Given the description of an element on the screen output the (x, y) to click on. 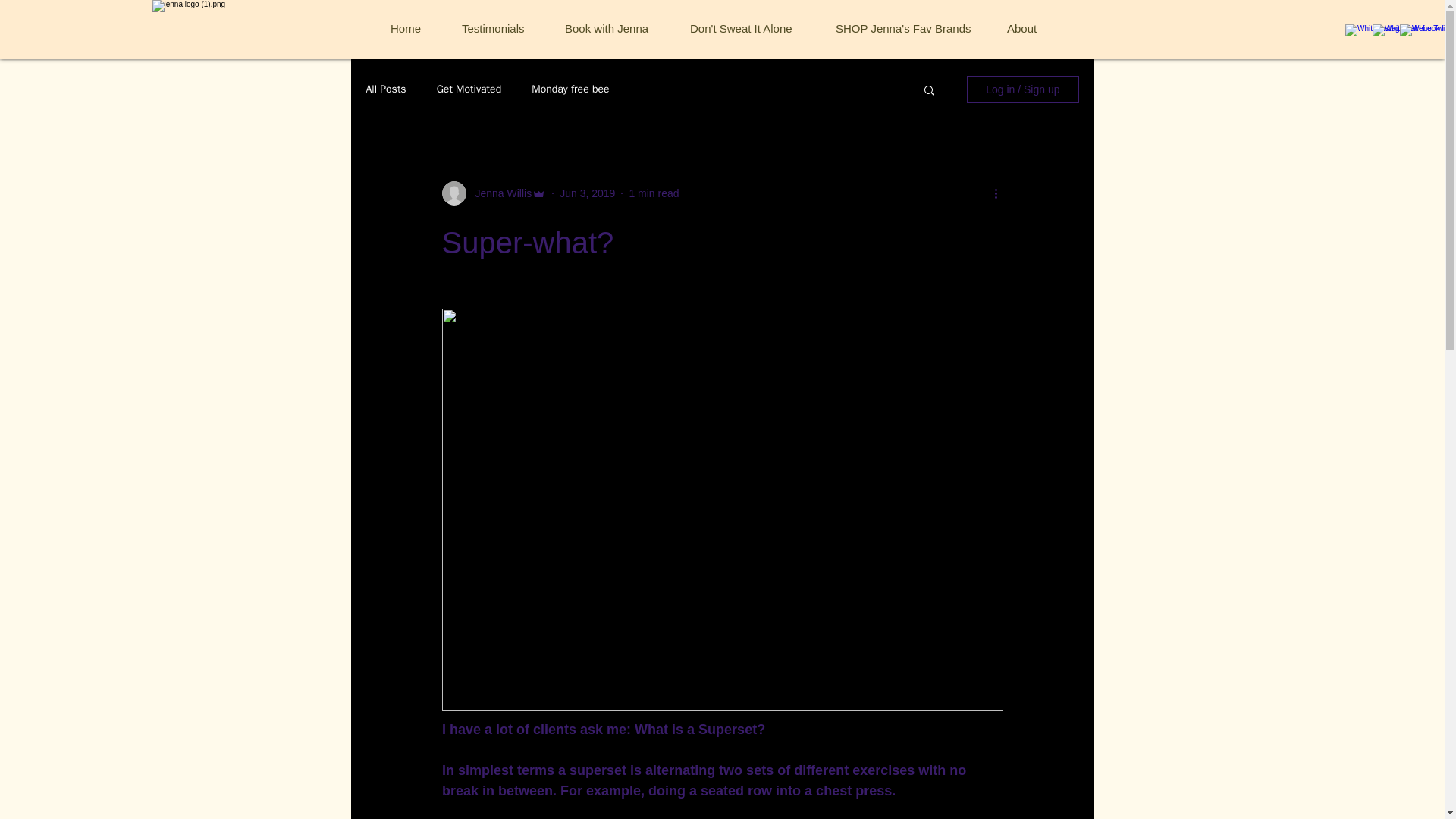
Book with Jenna (615, 28)
1 min read (653, 192)
Home (413, 28)
Monday free bee (569, 89)
Get Motivated (469, 89)
SHOP Jenna's Fav Brands (909, 28)
About (1030, 28)
Jenna Willis (498, 192)
Jun 3, 2019 (586, 192)
Don't Sweat It Alone (751, 28)
